Given the description of an element on the screen output the (x, y) to click on. 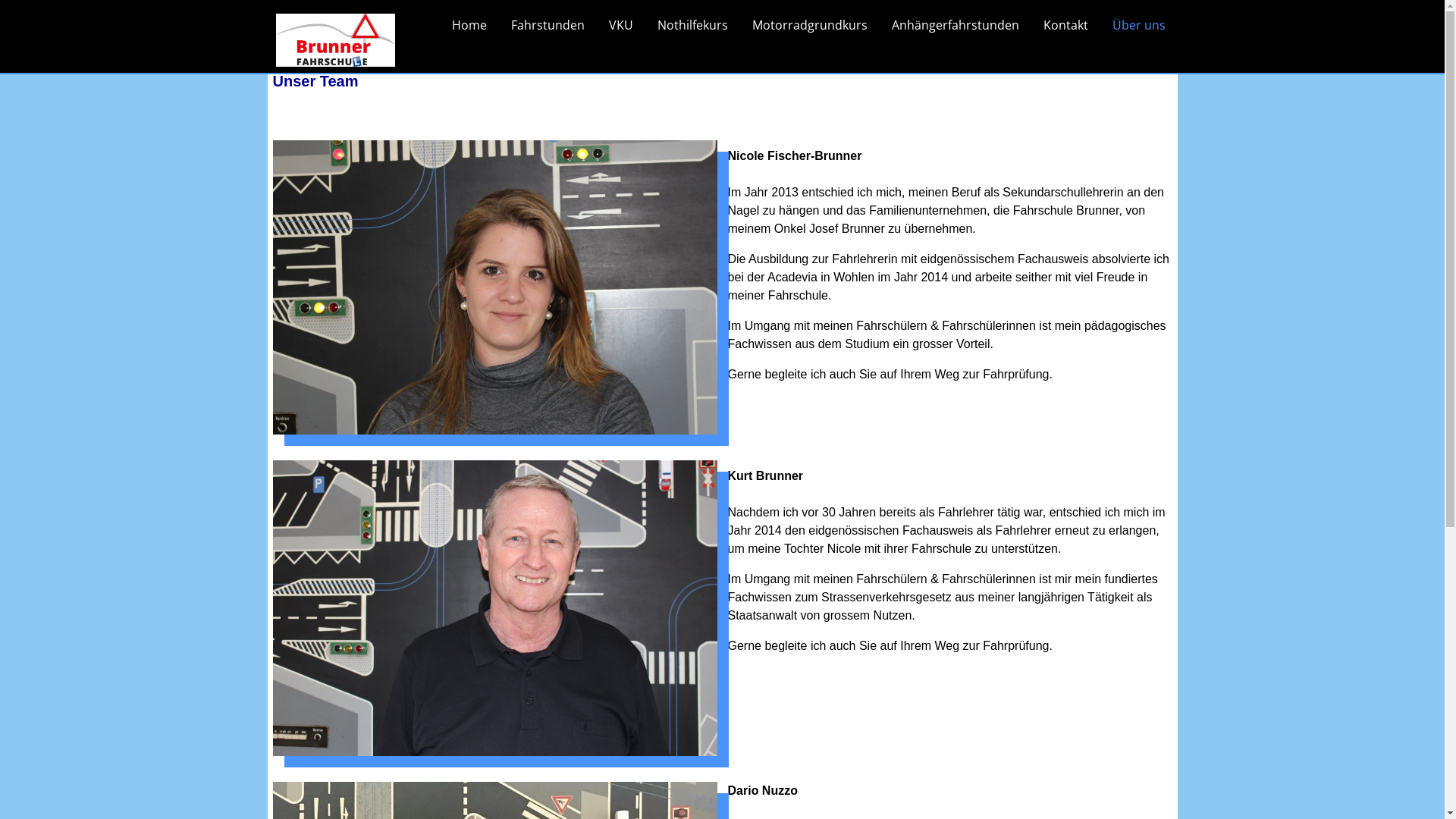
Fahrstunden Element type: text (547, 24)
Home Element type: text (468, 24)
Los! Element type: text (1146, 37)
Nothilfekurs Element type: text (691, 24)
Kontakt Element type: text (1065, 24)
VKU Element type: text (620, 24)
Motorradgrundkurs Element type: text (809, 24)
